Given the description of an element on the screen output the (x, y) to click on. 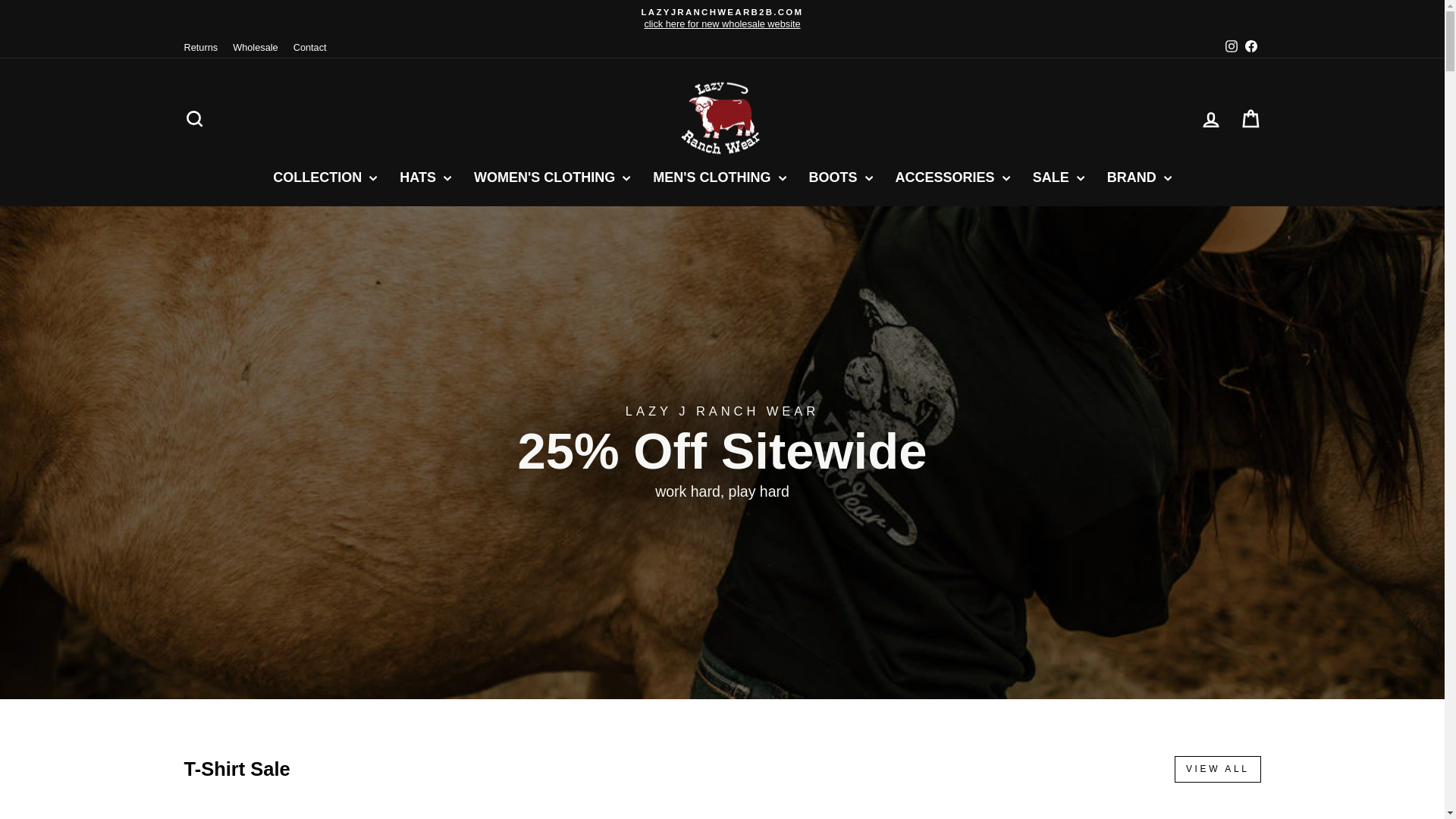
ICON-SEARCH (194, 118)
Lazy J Ranch Wear Stores on Facebook (1250, 46)
Lazy J Ranch Wear Stores on Instagram (722, 18)
instagram (1230, 46)
ACCOUNT (1231, 46)
